Given the description of an element on the screen output the (x, y) to click on. 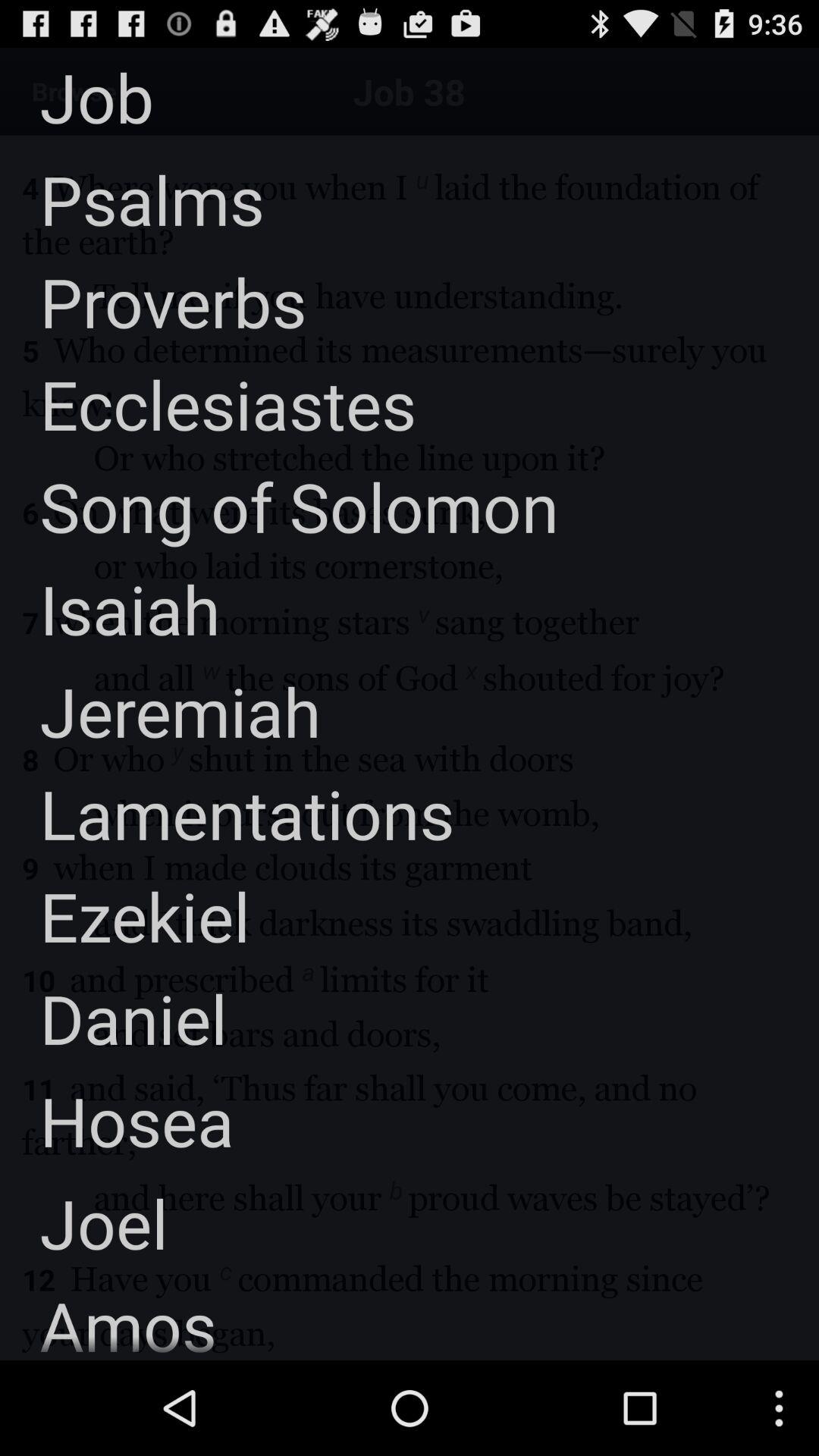
open icon below the ezekiel (113, 1018)
